Given the description of an element on the screen output the (x, y) to click on. 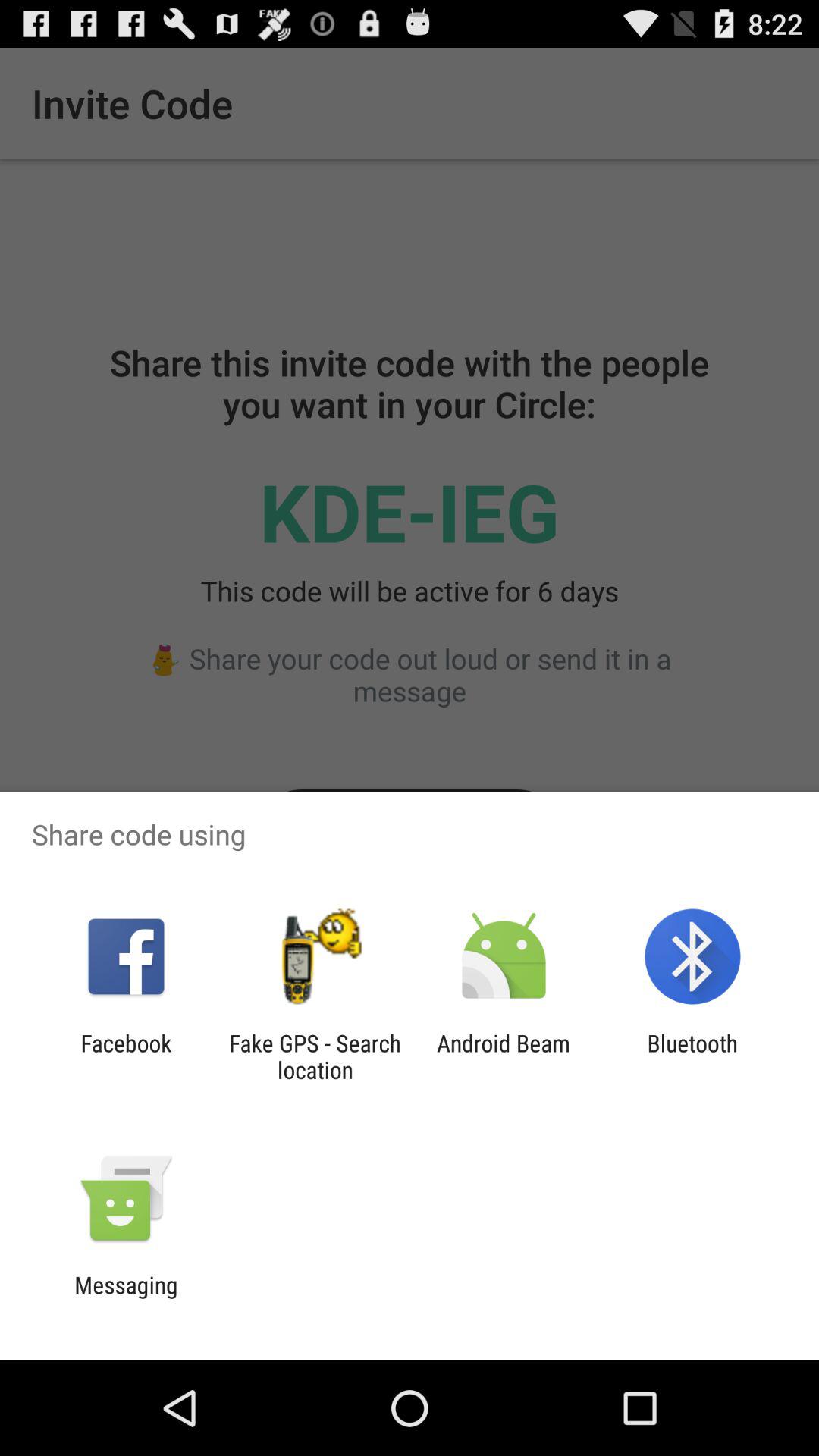
open the item next to facebook icon (314, 1056)
